Given the description of an element on the screen output the (x, y) to click on. 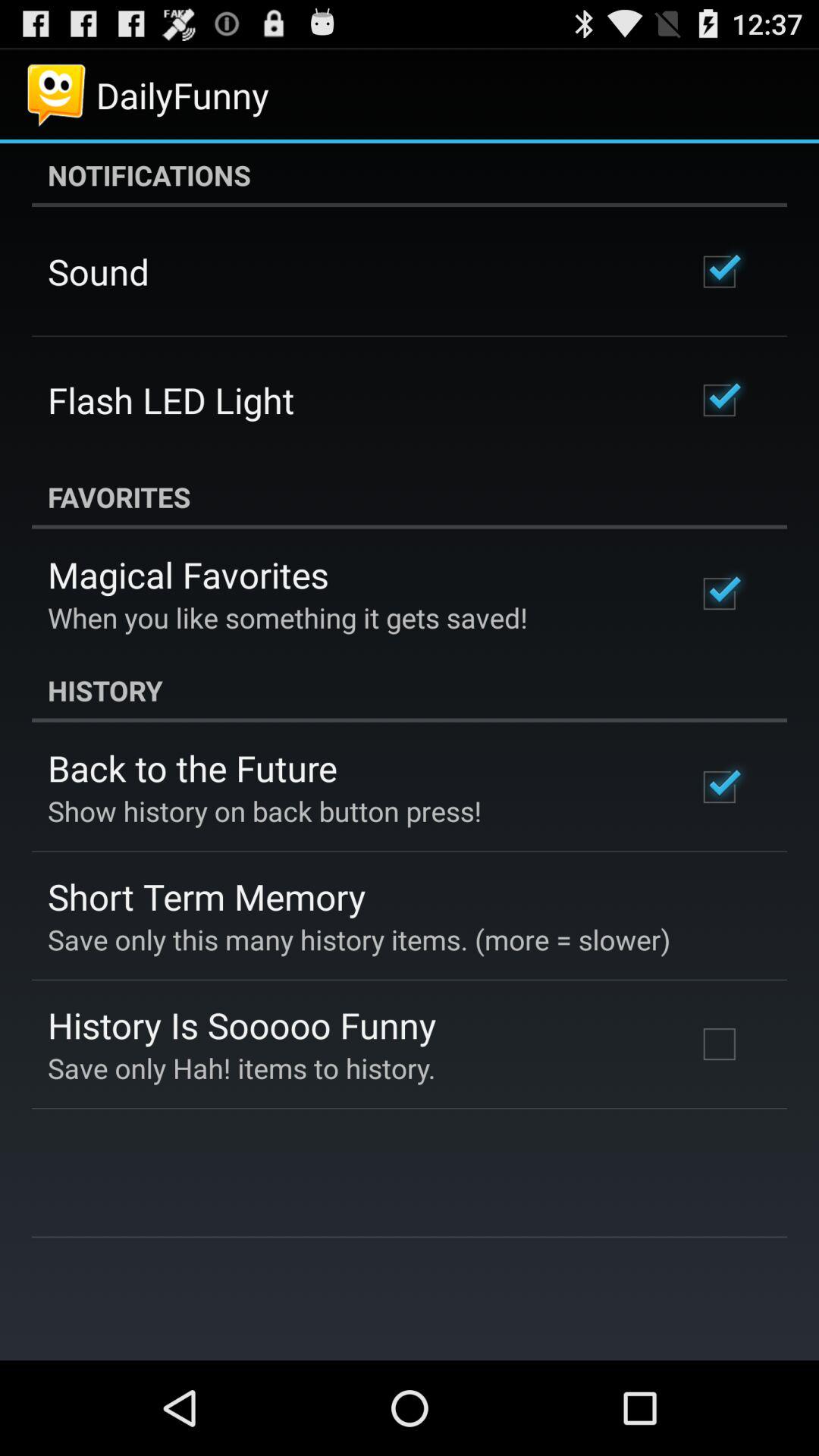
choose the item above the save only this app (206, 896)
